Given the description of an element on the screen output the (x, y) to click on. 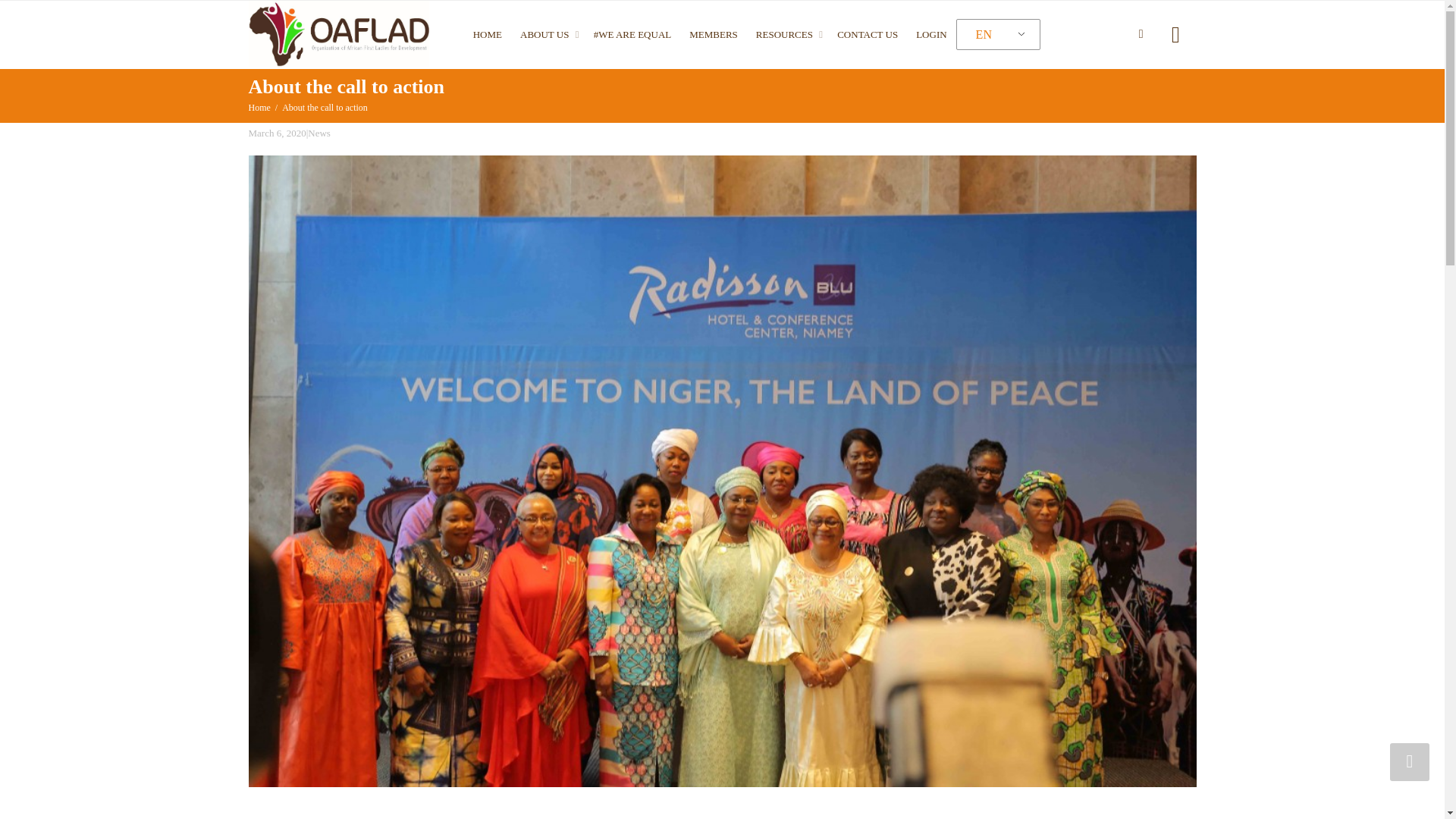
EN (995, 34)
News (318, 132)
Home (259, 107)
Contact Us (867, 34)
oaflad (338, 33)
Resources (786, 34)
CONTACT US (867, 34)
RESOURCES (786, 34)
March 6, 2020 (276, 132)
